Given the description of an element on the screen output the (x, y) to click on. 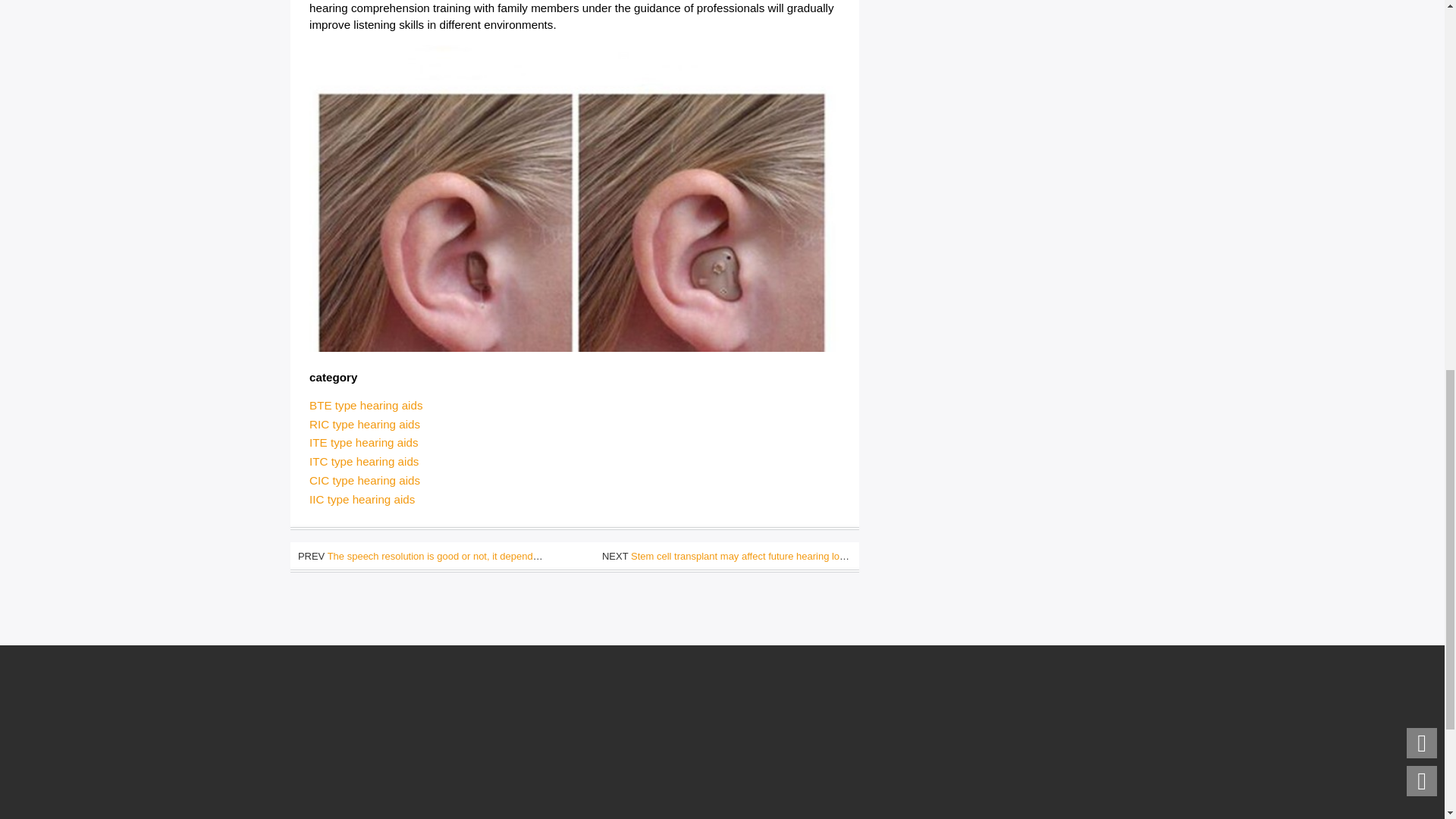
IIC hearing aids (361, 499)
ITE type hearing aids (363, 441)
ITC hearing aids (363, 461)
ITC type hearing aids (363, 461)
IIC type hearing aids (361, 499)
CIC type hearing aids (364, 480)
BTE hearing aids (365, 404)
RIC type hearing aids (364, 423)
CIC hearing aids (364, 480)
ITE hearing aids (363, 441)
RIC hearing aids (364, 423)
BTE type hearing aids (365, 404)
